Given the description of an element on the screen output the (x, y) to click on. 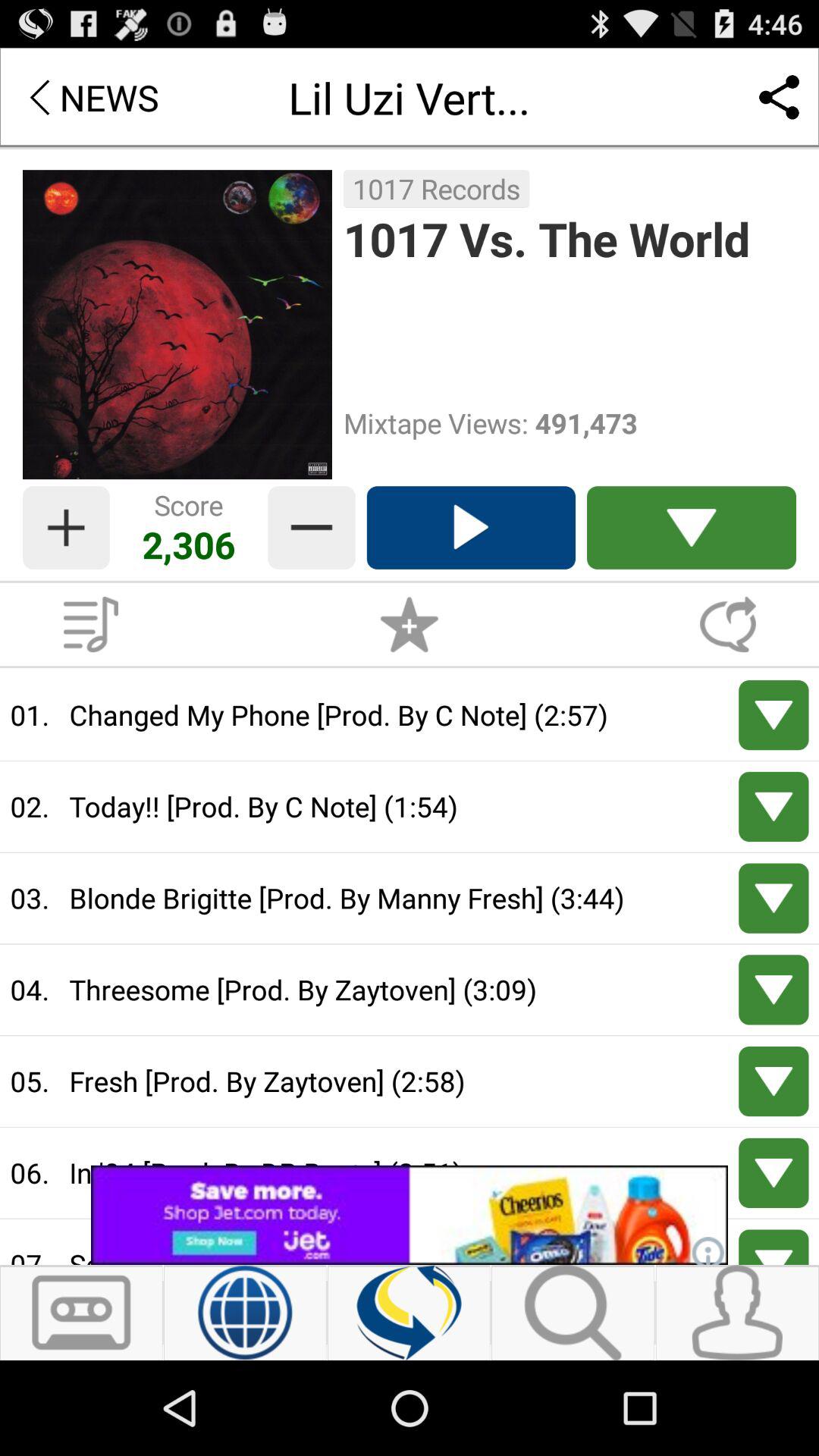
play the music (91, 624)
